Given the description of an element on the screen output the (x, y) to click on. 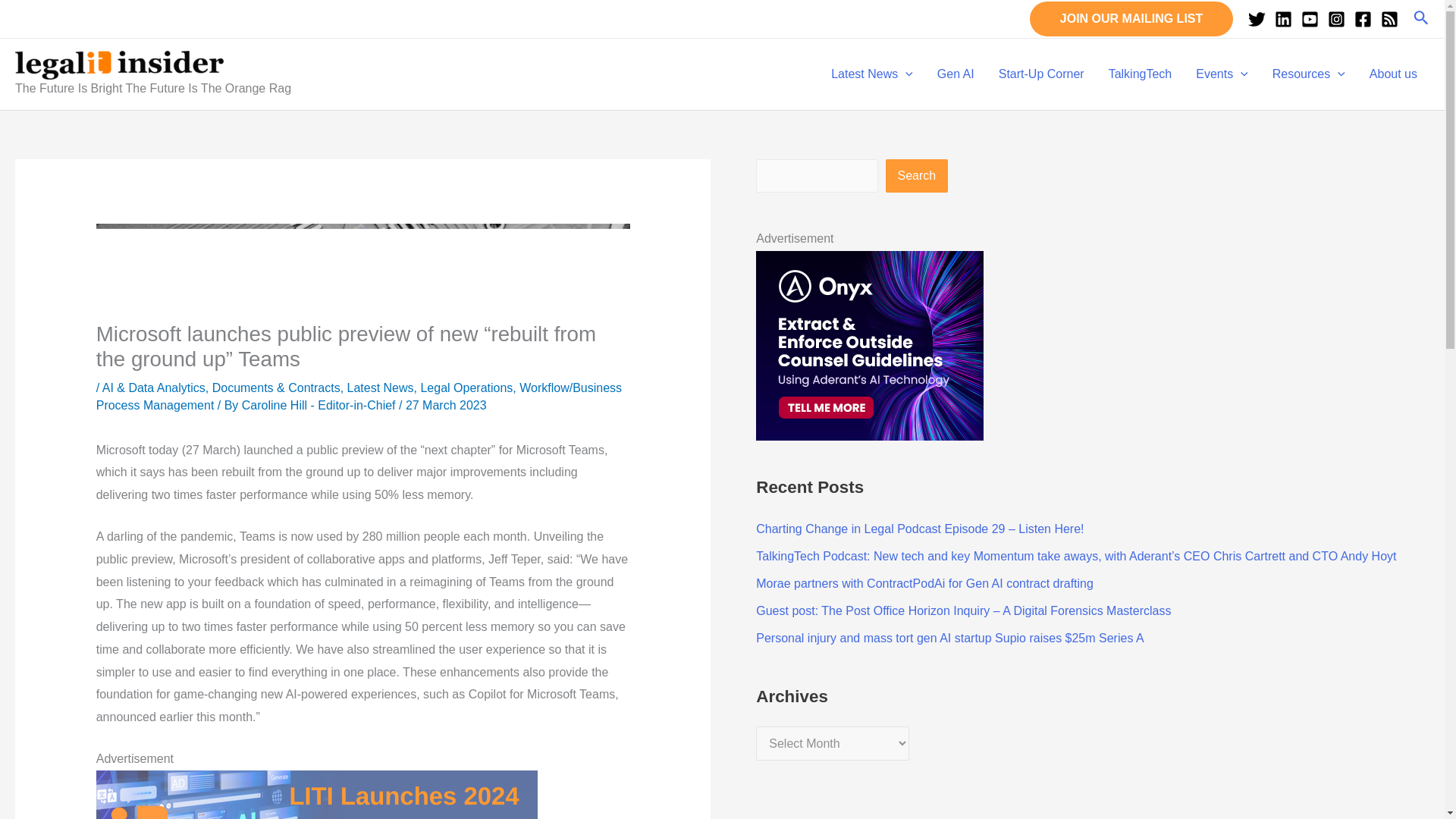
JOIN OUR MAILING LIST (1131, 18)
View all posts by Caroline Hill - Editor-in-Chief (319, 404)
Start-Up Corner (1041, 73)
TalkingTech (1140, 73)
Gen AI (955, 73)
Events (1221, 73)
Latest News (871, 73)
Resources (1308, 73)
